Given the description of an element on the screen output the (x, y) to click on. 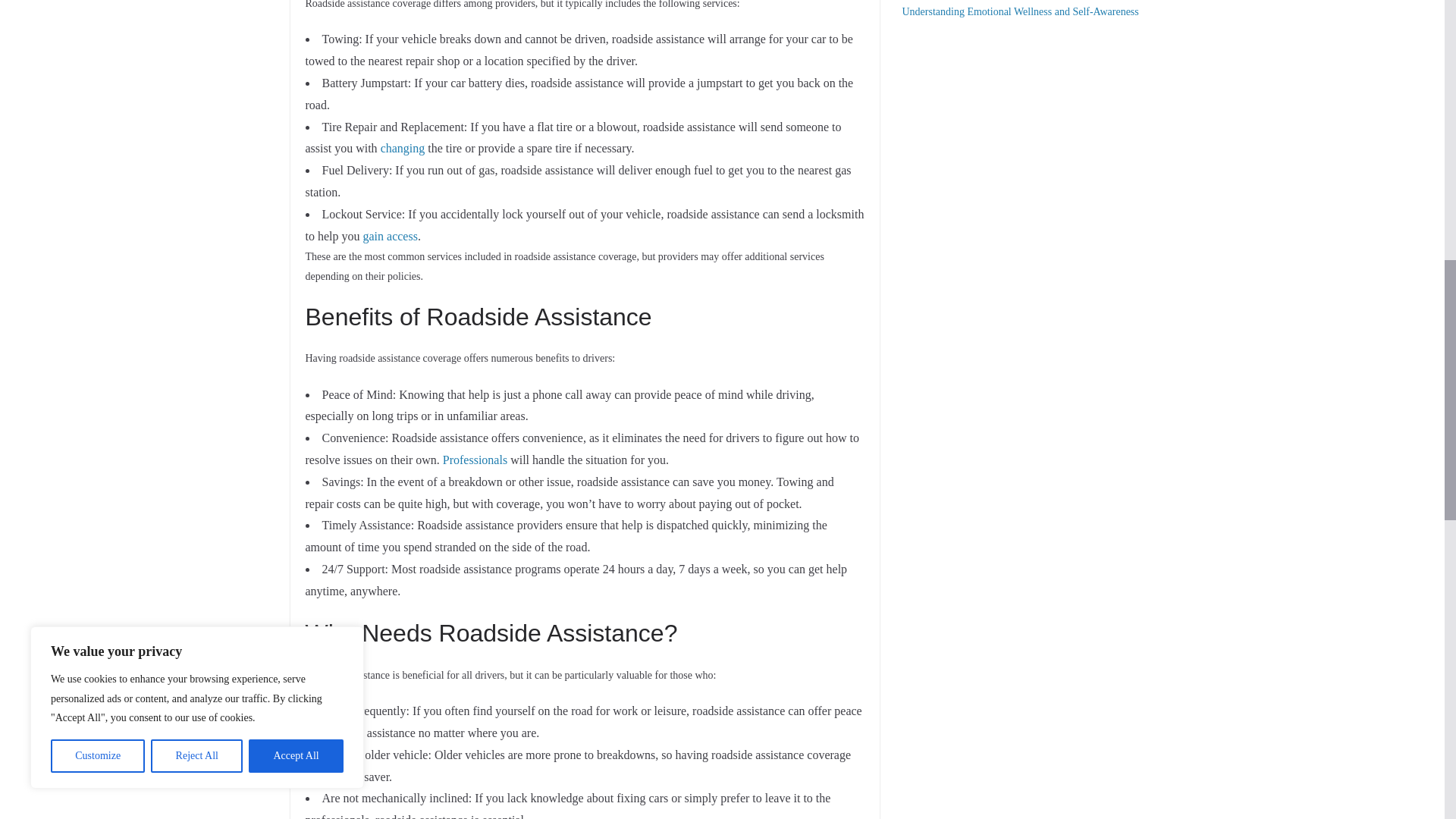
gain access (389, 236)
Professionals (474, 459)
changing (402, 147)
